Given the description of an element on the screen output the (x, y) to click on. 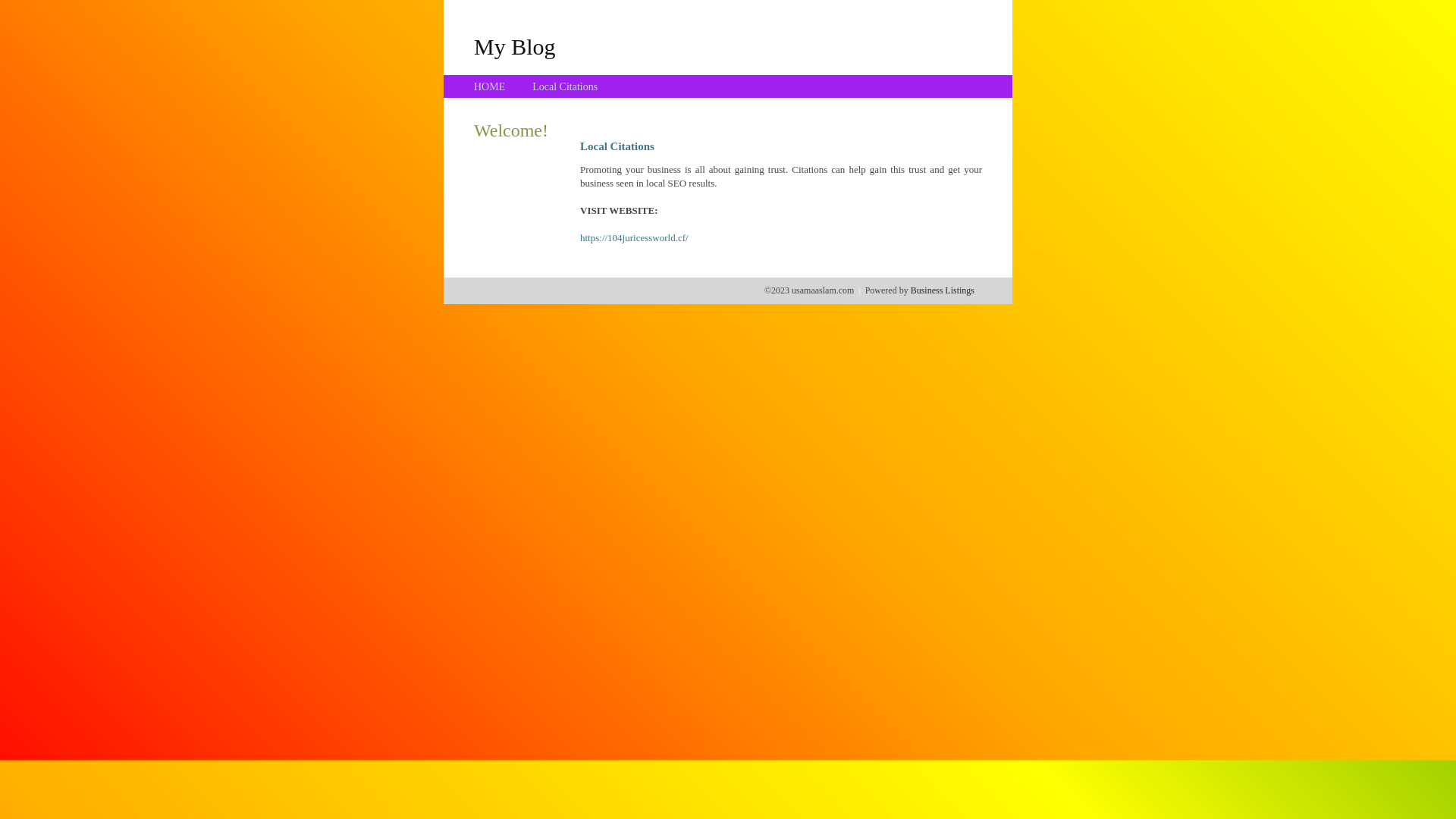
Local Citations Element type: text (564, 86)
Business Listings Element type: text (942, 290)
https://104juricessworld.cf/ Element type: text (634, 237)
My Blog Element type: text (514, 46)
HOME Element type: text (489, 86)
